Given the description of an element on the screen output the (x, y) to click on. 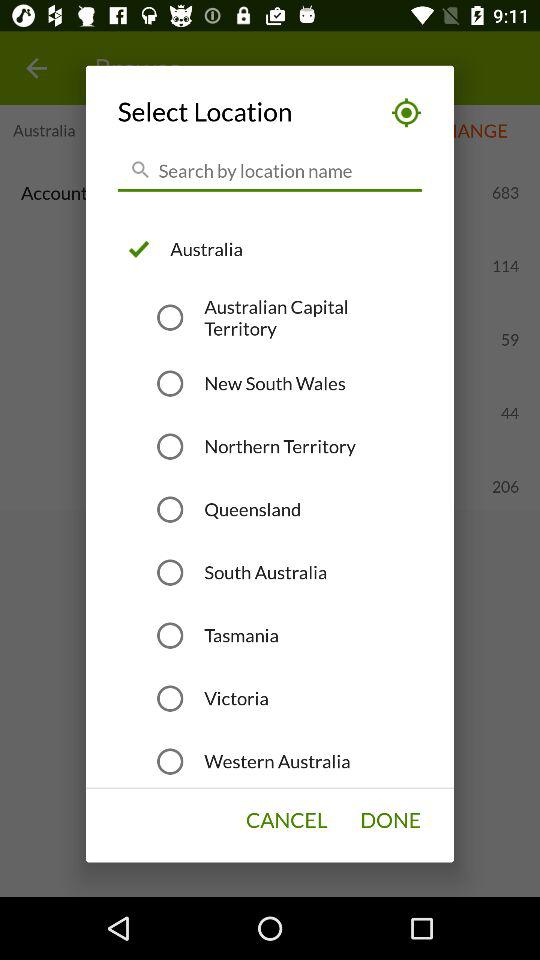
turn on the item to the left of done item (286, 820)
